Given the description of an element on the screen output the (x, y) to click on. 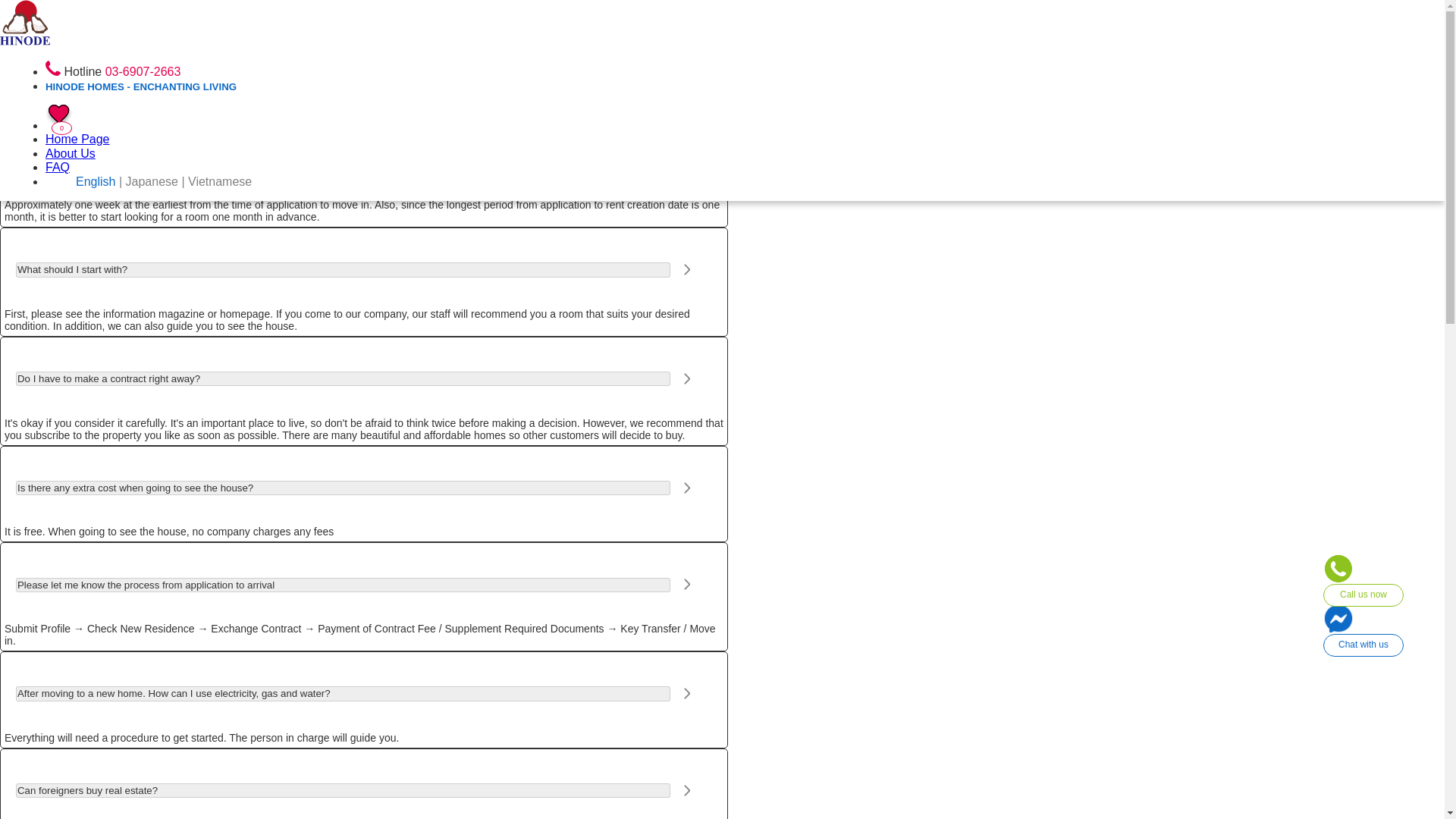
English (72, 69)
Home Page (77, 138)
FAQ (65, 53)
Can foreigners buy real estate? (342, 789)
English (95, 181)
About us (78, 36)
Is there any extra cost when going to see the house? (342, 487)
Please let me know the process from application to arrival (342, 585)
Home Page (24, 105)
About Us (70, 153)
0 (15, 108)
FAQ (57, 166)
Vietnamese (85, 100)
Japanese (79, 84)
0 (58, 124)
